Given the description of an element on the screen output the (x, y) to click on. 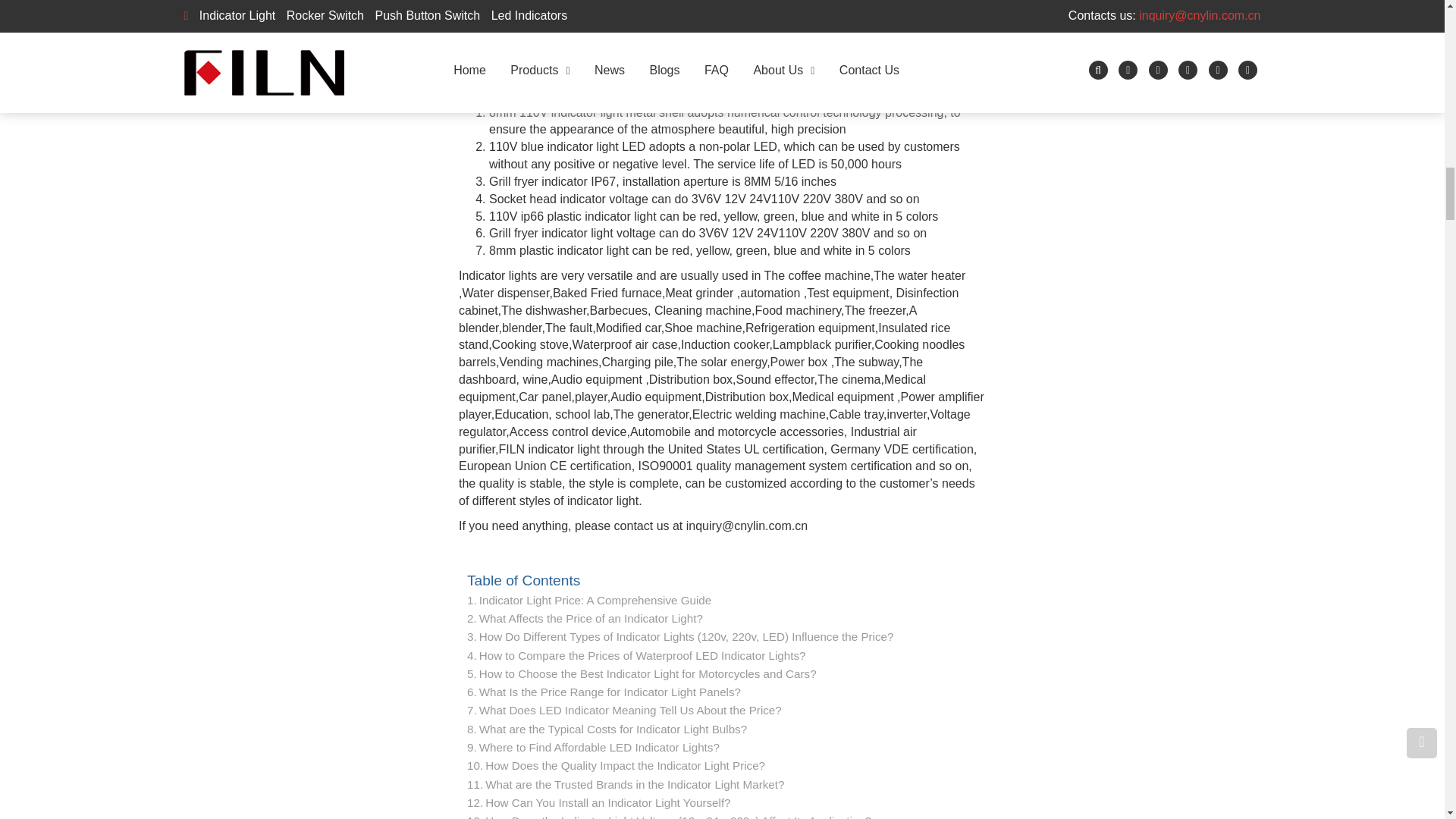
Indicator Light Price: A Comprehensive Guide (589, 600)
8MM 110V BULE LED Grill fryer UL Indicator Light Price (579, 26)
What Affects the Price of an Indicator Light? (585, 618)
